Given the description of an element on the screen output the (x, y) to click on. 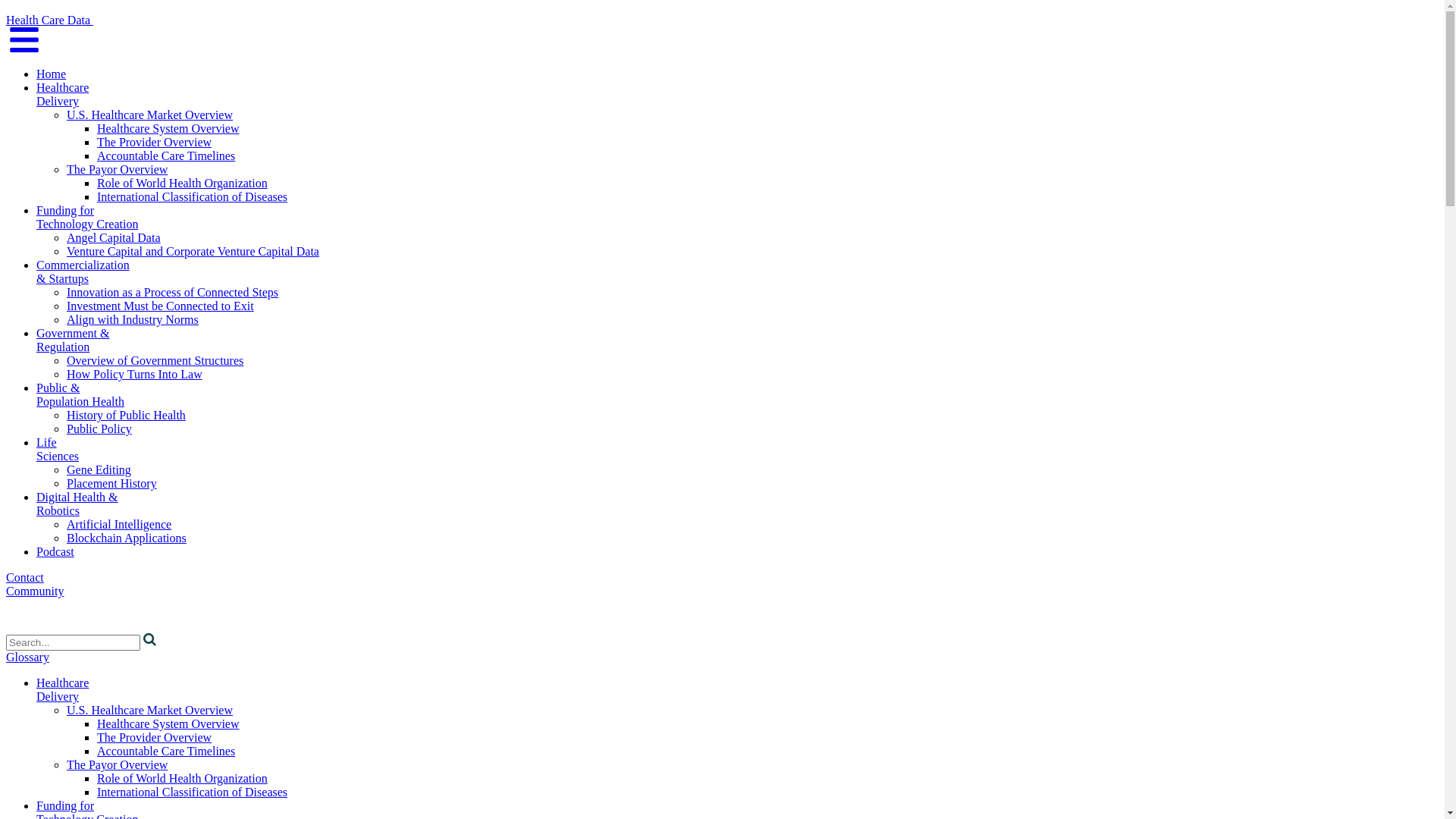
Overview of Government Structures Element type: text (154, 360)
Healthcare System Overview Element type: text (167, 723)
Placement History Element type: text (111, 482)
Podcast Element type: text (55, 551)
Align with Industry Norms Element type: text (132, 319)
U.S. Healthcare Market Overview Element type: text (149, 114)
Home Element type: text (50, 73)
Blockchain Applications Element type: text (126, 537)
Role of World Health Organization Element type: text (182, 182)
Investment Must be Connected to Exit Element type: text (160, 305)
Accountable Care Timelines Element type: text (166, 155)
Public Policy Element type: text (98, 428)
Role of World Health Organization Element type: text (182, 777)
History of Public Health Element type: text (125, 414)
Contact Element type: text (24, 577)
Healthcare
Delivery Element type: text (62, 689)
International Classification of Diseases Element type: text (192, 791)
Healthcare System Overview Element type: text (167, 128)
Commercialization
& Startups Element type: text (82, 271)
The Provider Overview Element type: text (154, 141)
U.S. Healthcare Market Overview Element type: text (149, 709)
Public &
Population Health Element type: text (80, 394)
Accountable Care Timelines Element type: text (166, 750)
Venture Capital and Corporate Venture Capital Data Element type: text (192, 250)
Angel Capital Data Element type: text (113, 237)
Healthcare
Delivery Element type: text (62, 94)
Funding for
Technology Creation Element type: text (87, 216)
Health Care Data Element type: text (125, 19)
Digital Health &
Robotics Element type: text (77, 503)
Life
Sciences Element type: text (57, 449)
Glossary Element type: text (27, 656)
How Policy Turns Into Law Element type: text (134, 373)
The Provider Overview Element type: text (154, 737)
Gene Editing Element type: text (98, 469)
International Classification of Diseases Element type: text (192, 196)
The Payor Overview Element type: text (116, 764)
Menu Element type: text (24, 47)
Government &
Regulation Element type: text (72, 339)
Community Element type: text (34, 590)
Artificial Intelligence Element type: text (118, 523)
Innovation as a Process of Connected Steps Element type: text (172, 291)
The Payor Overview Element type: text (116, 169)
